Given the description of an element on the screen output the (x, y) to click on. 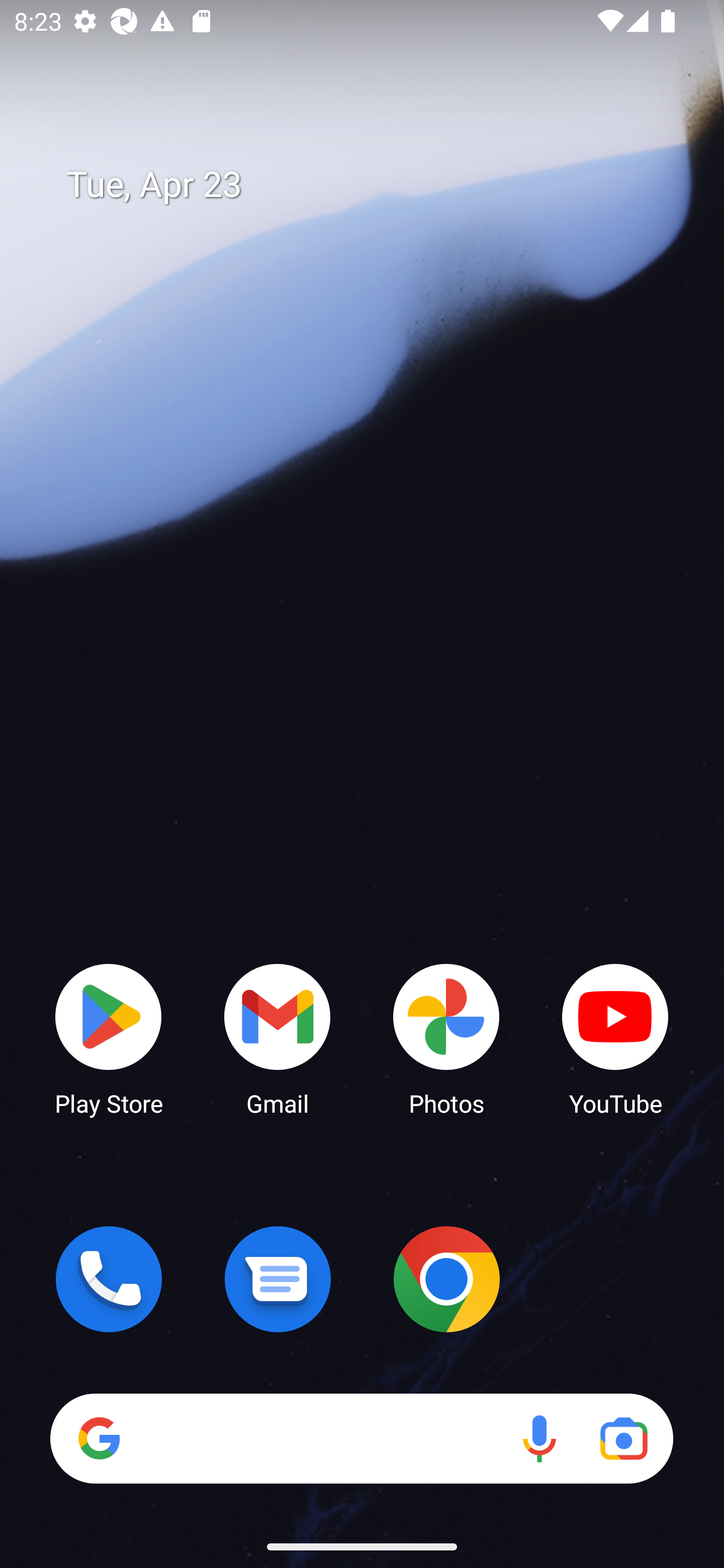
Tue, Apr 23 (375, 184)
Play Store (108, 1038)
Gmail (277, 1038)
Photos (445, 1038)
YouTube (615, 1038)
Phone (108, 1279)
Messages (277, 1279)
Chrome (446, 1279)
Search Voice search Google Lens (361, 1438)
Voice search (539, 1438)
Google Lens (623, 1438)
